Given the description of an element on the screen output the (x, y) to click on. 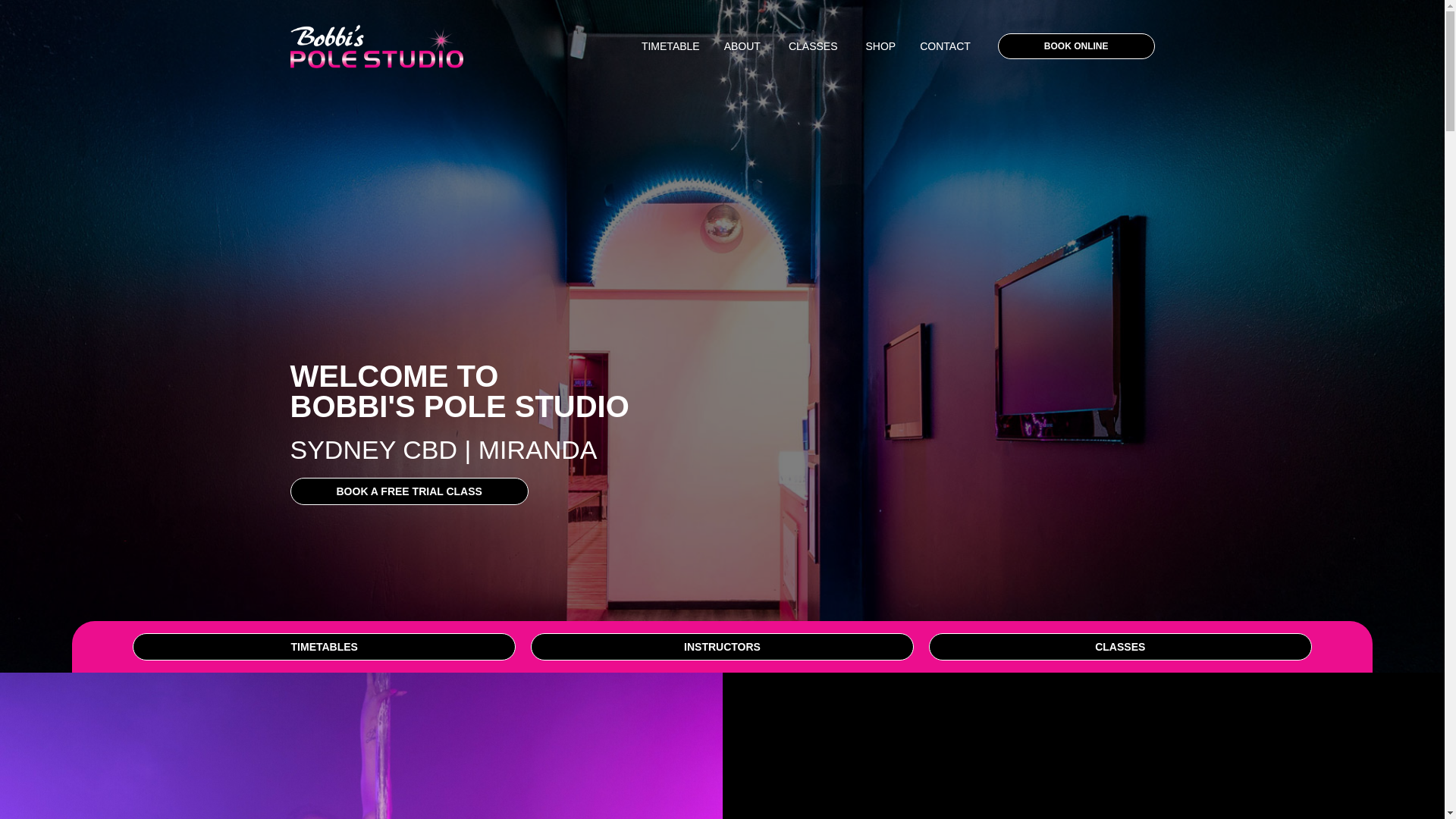
BOOK ONLINE (1075, 45)
CONTACT (945, 46)
SHOP (881, 46)
ABOUT (741, 46)
TIMETABLE (671, 46)
CLASSES (813, 46)
